Given the description of an element on the screen output the (x, y) to click on. 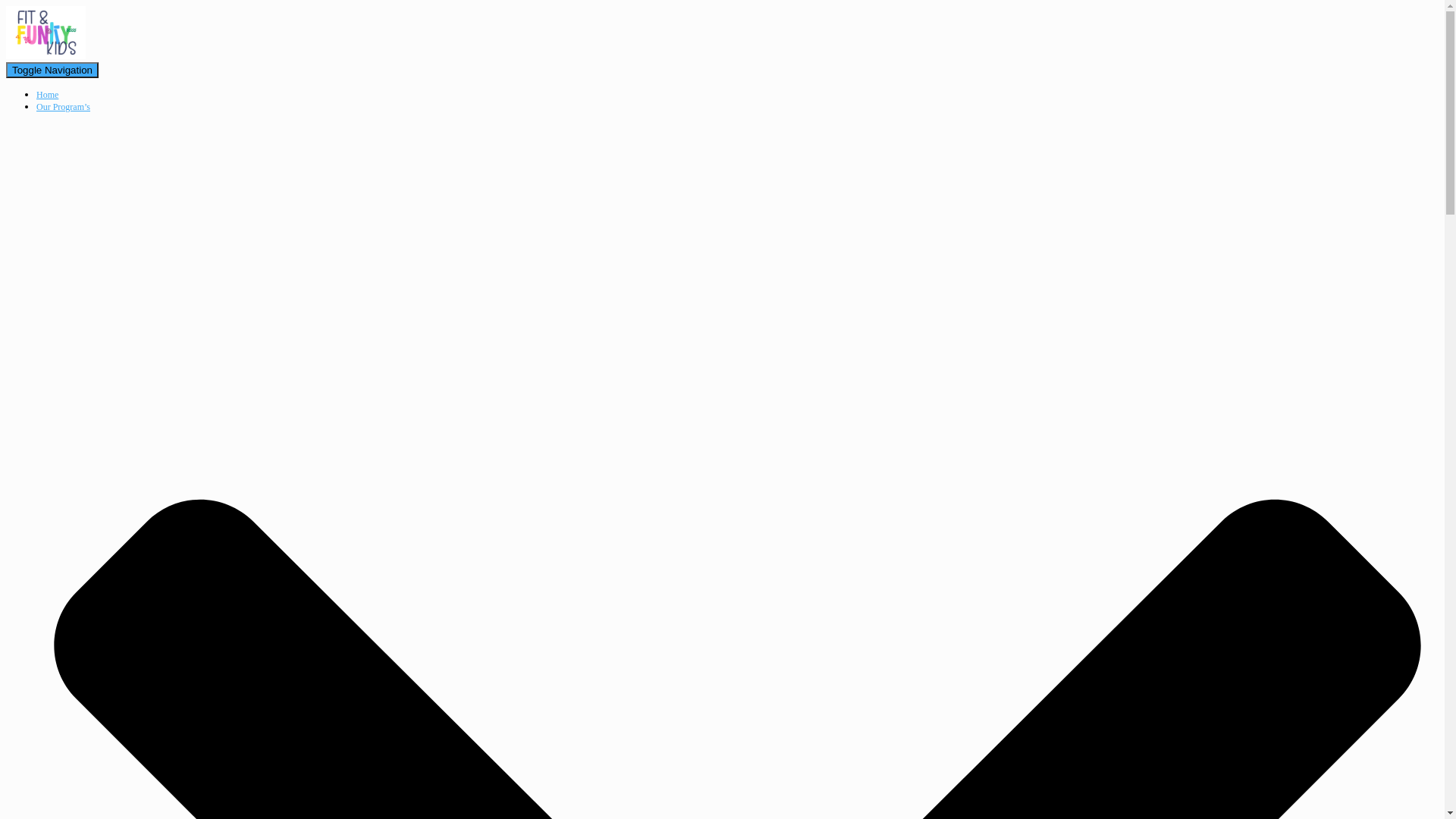
Toggle Navigation Element type: text (52, 70)
Home Element type: text (47, 94)
Fit and Funky Kids Element type: hover (45, 55)
